Given the description of an element on the screen output the (x, y) to click on. 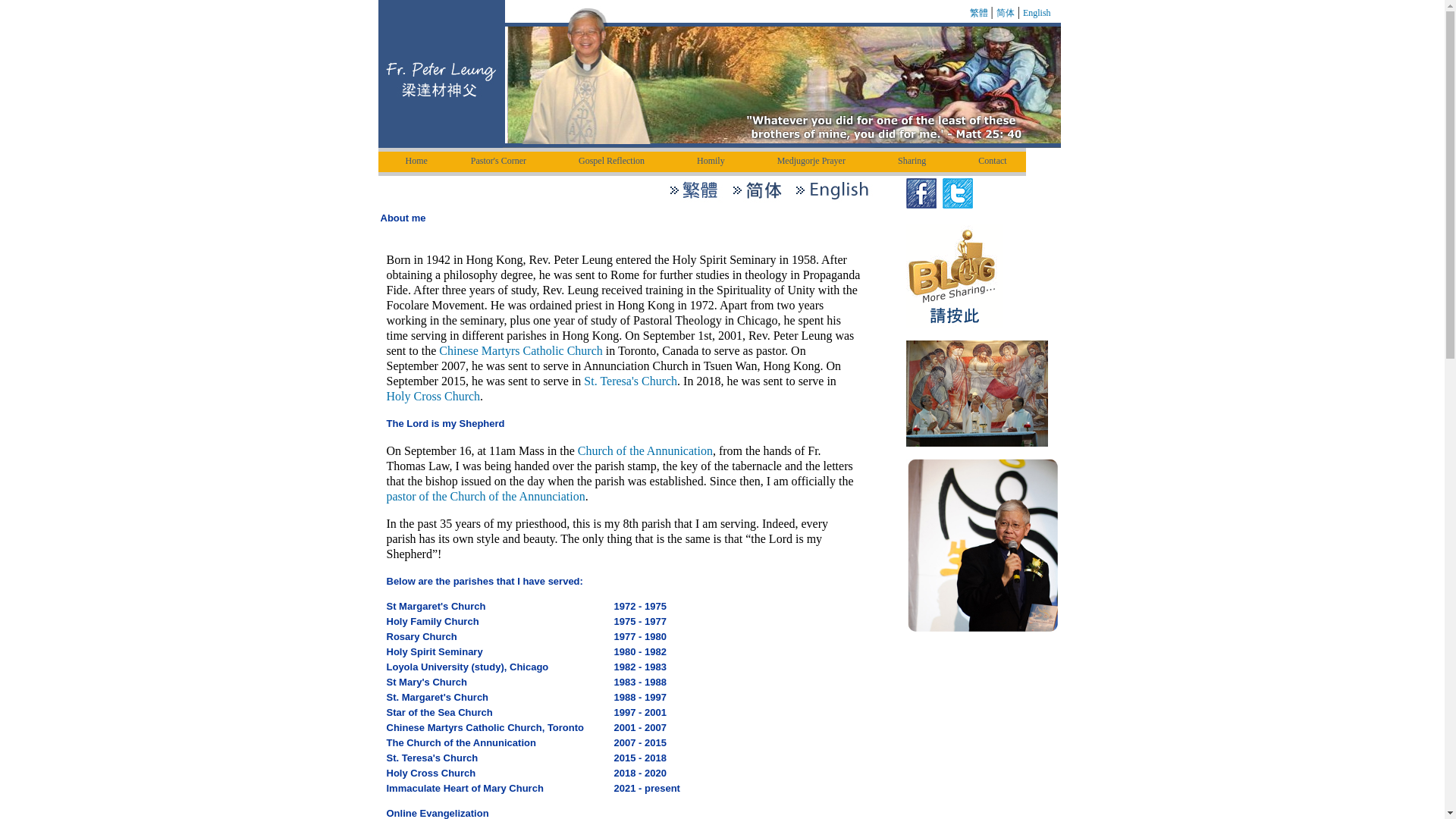
Medjugorje Prayer (816, 160)
Home (417, 160)
Homily (716, 160)
Pastor's Corner (503, 160)
English (1037, 12)
Follow me on Facebook! (920, 193)
Follow me on Twitter! (957, 193)
Gospel Reflection (616, 160)
